Given the description of an element on the screen output the (x, y) to click on. 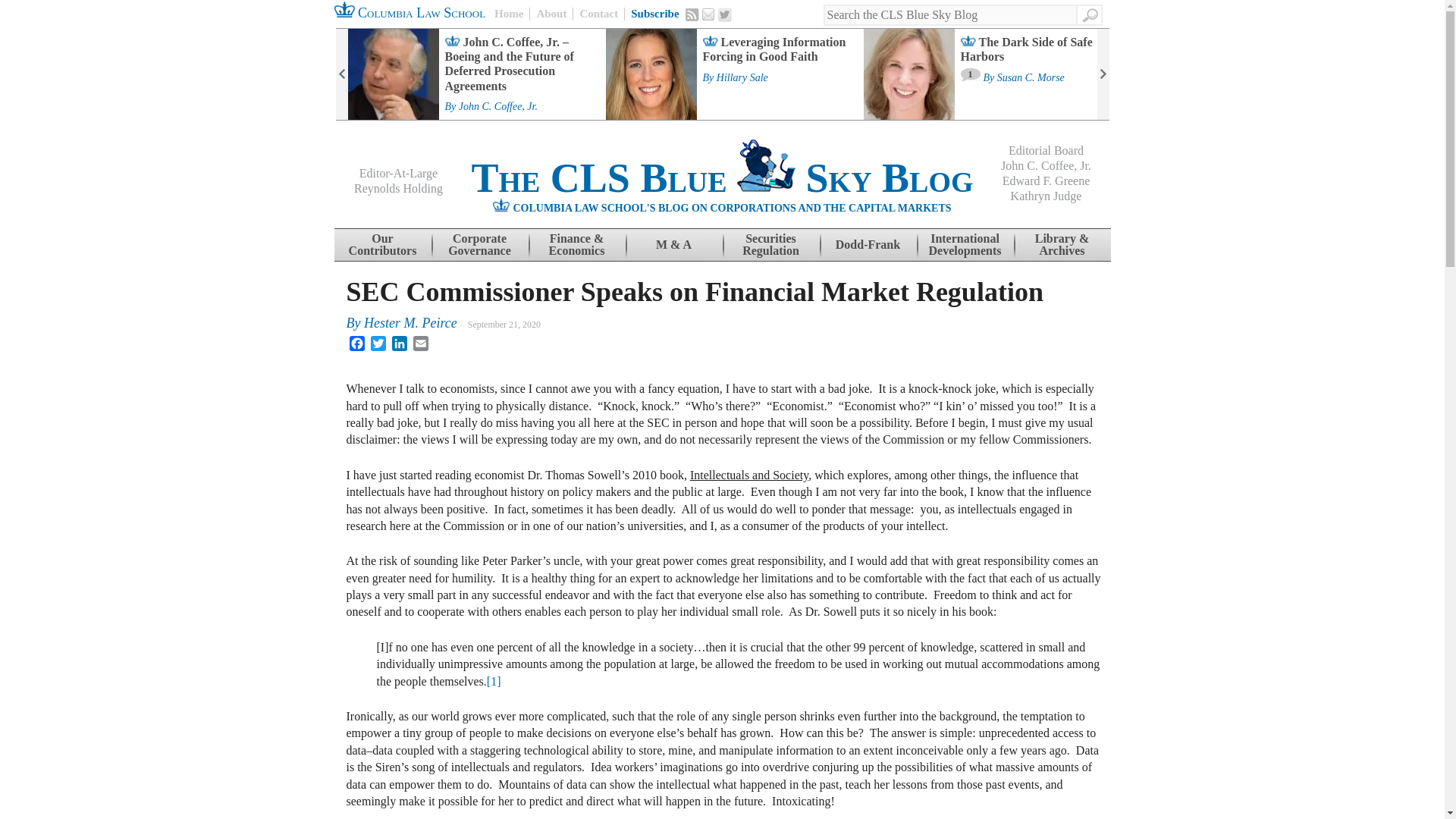
Posts by John C. Coffee, Jr. (497, 106)
Home (512, 13)
Hillary Sale (742, 77)
Email (707, 14)
RSS (691, 14)
Posts by Hillary Sale (742, 77)
The Dark Side of Safe Harbors (1031, 45)
Contact (598, 13)
Twitter (724, 14)
Twitter (724, 14)
